Given the description of an element on the screen output the (x, y) to click on. 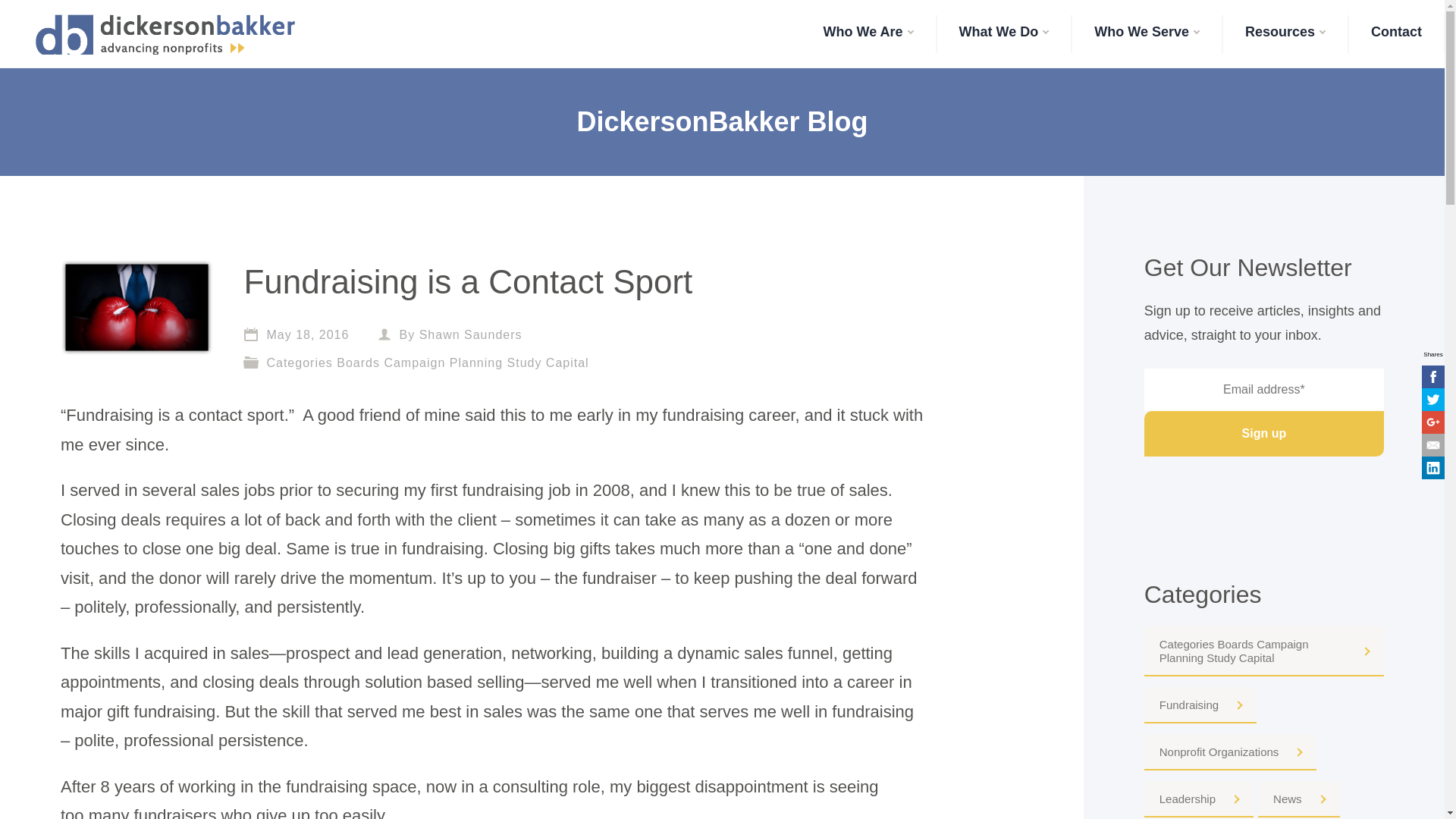
Categories Boards Campaign Planning Study Capital (427, 362)
Categories Boards Campaign Planning Study Capital (1264, 651)
Sign up (1264, 433)
Who We Serve (1147, 33)
Sign up (1264, 433)
Shawn Saunders (470, 334)
What We Do (1003, 33)
Resources (1285, 33)
Fundraising (1200, 705)
Who We Are (868, 33)
DB-logo-2023 (164, 34)
